Given the description of an element on the screen output the (x, y) to click on. 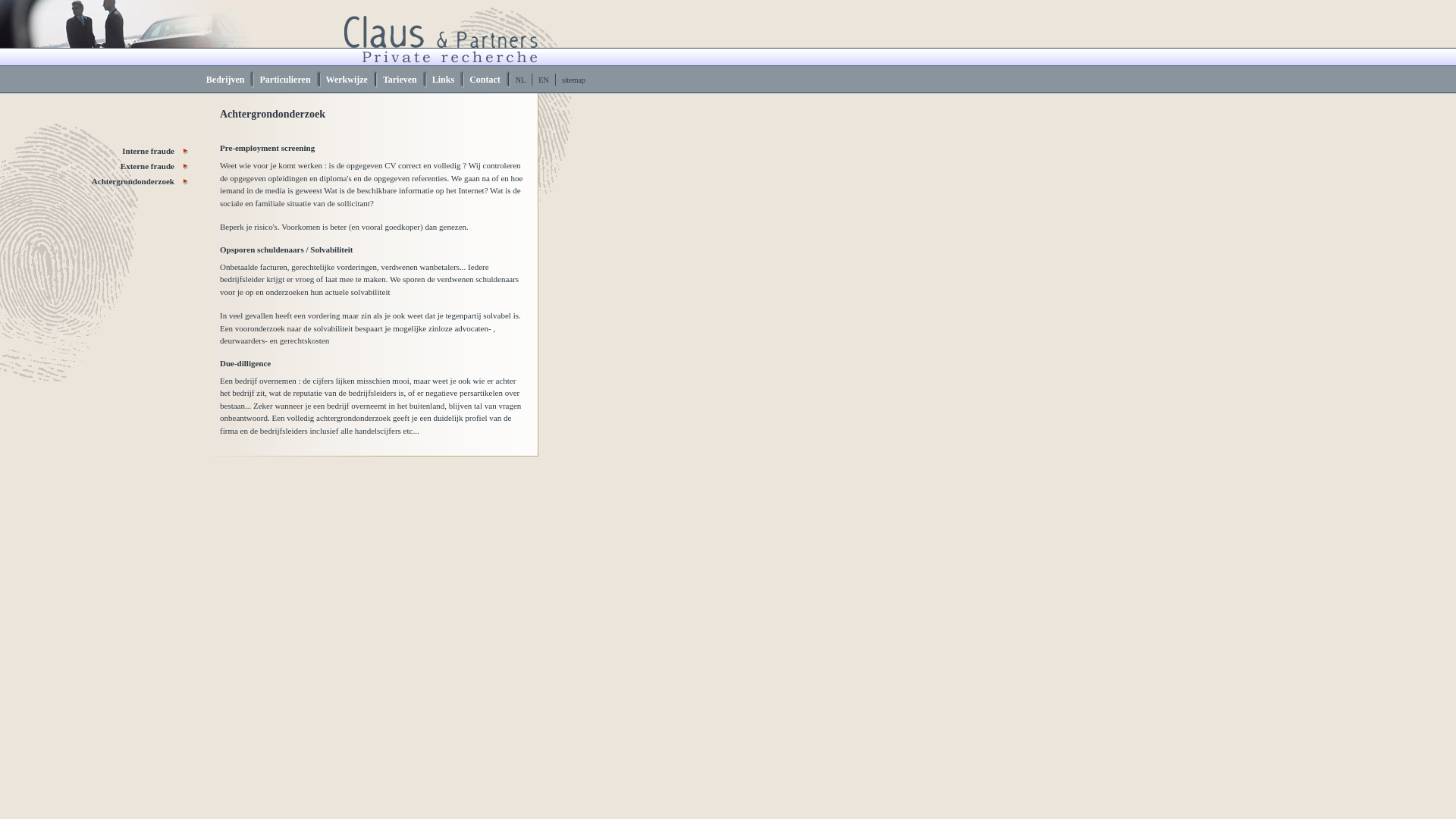
Externe fraude Element type: text (94, 166)
Achtergrondonderzoek Element type: text (94, 181)
Tarieven Element type: text (403, 79)
Werkwijze Element type: text (350, 79)
Links Element type: text (446, 79)
Interne fraude Element type: text (94, 151)
EN Element type: text (543, 79)
Contact Element type: text (488, 79)
NL Element type: text (520, 79)
Bedrijven Element type: text (228, 79)
Particulieren Element type: text (288, 79)
sitemap Element type: text (573, 79)
